Given the description of an element on the screen output the (x, y) to click on. 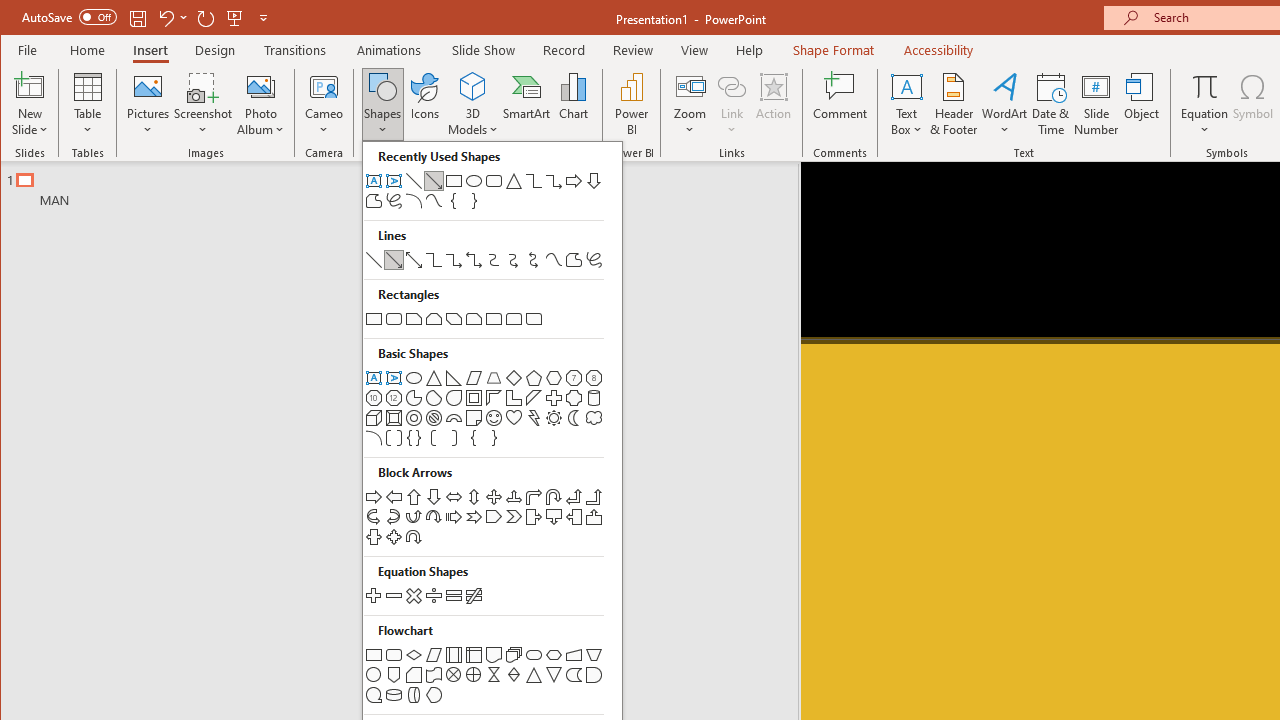
Text Box (906, 104)
SmartArt... (526, 104)
Chart... (573, 104)
Shapes (383, 104)
Action (773, 104)
Link (731, 104)
Equation (1204, 104)
